Given the description of an element on the screen output the (x, y) to click on. 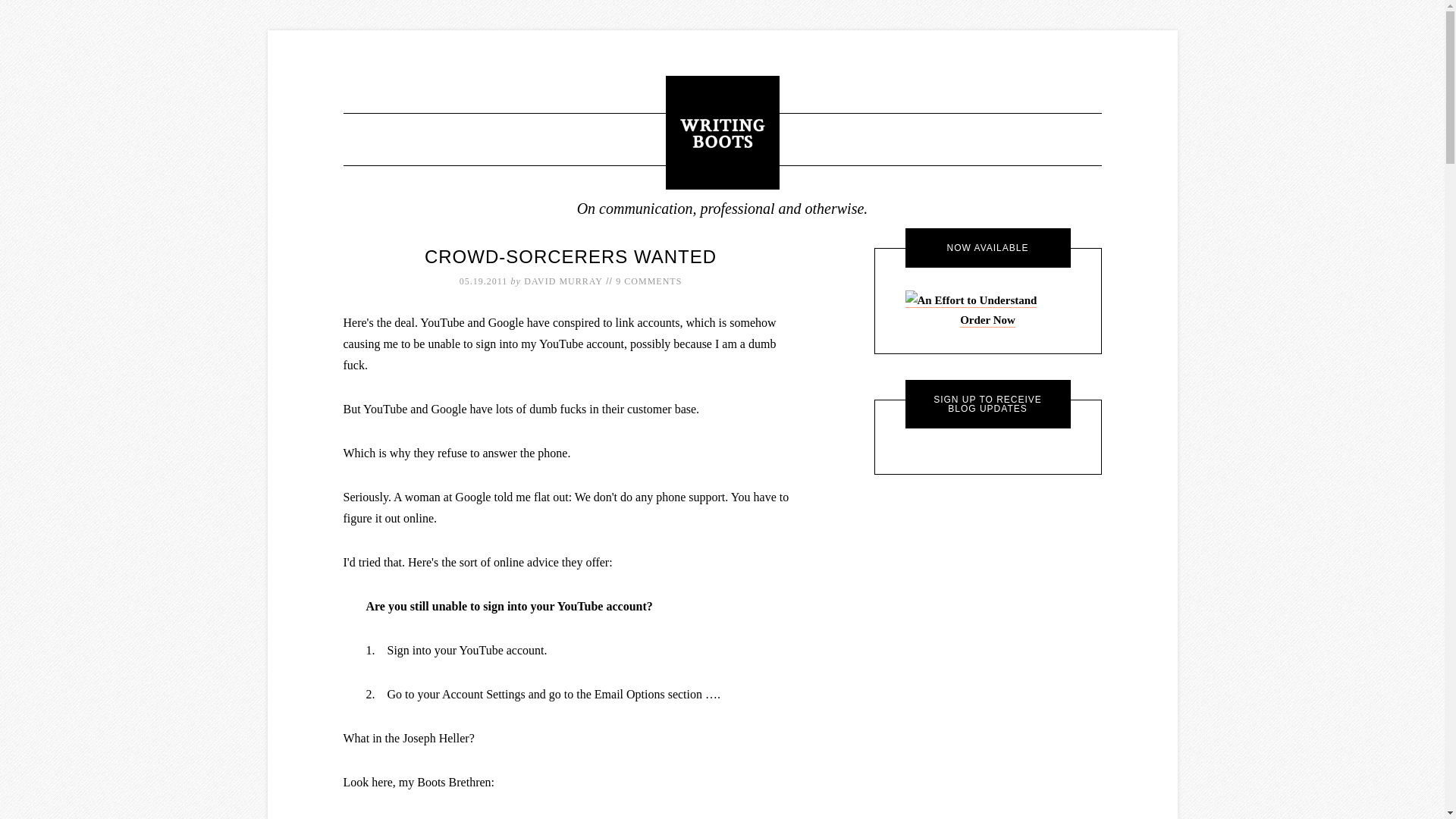
An Effort to Understand (986, 320)
DAVID MURRAY (563, 281)
9 COMMENTS (648, 281)
WRITING BOOTS (721, 132)
An Effort to Understand (970, 300)
Order Now (986, 320)
